Given the description of an element on the screen output the (x, y) to click on. 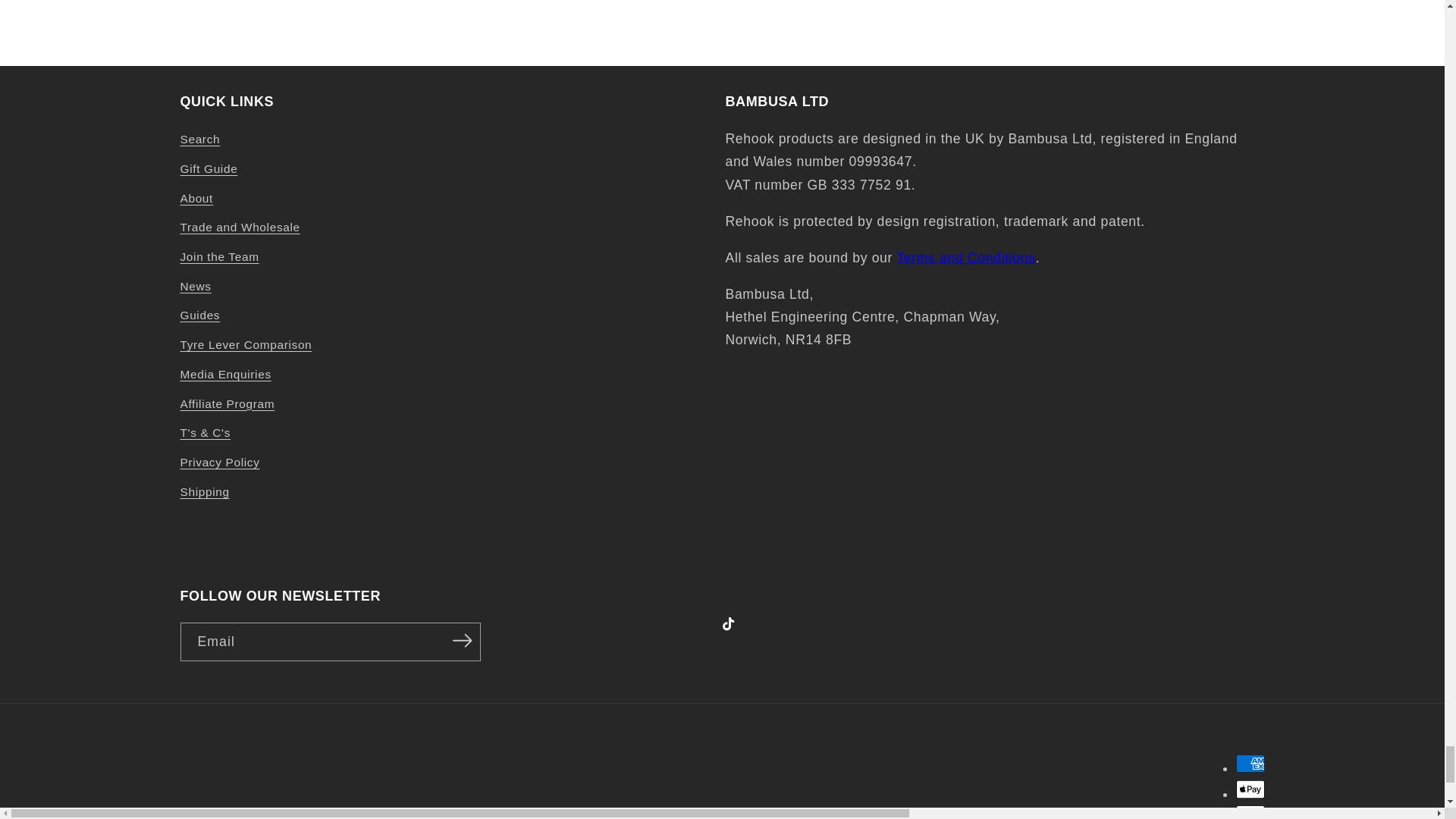
Terms of Service (965, 257)
American Express (1250, 763)
Diners Club (1250, 812)
Apple Pay (1250, 789)
